Given the description of an element on the screen output the (x, y) to click on. 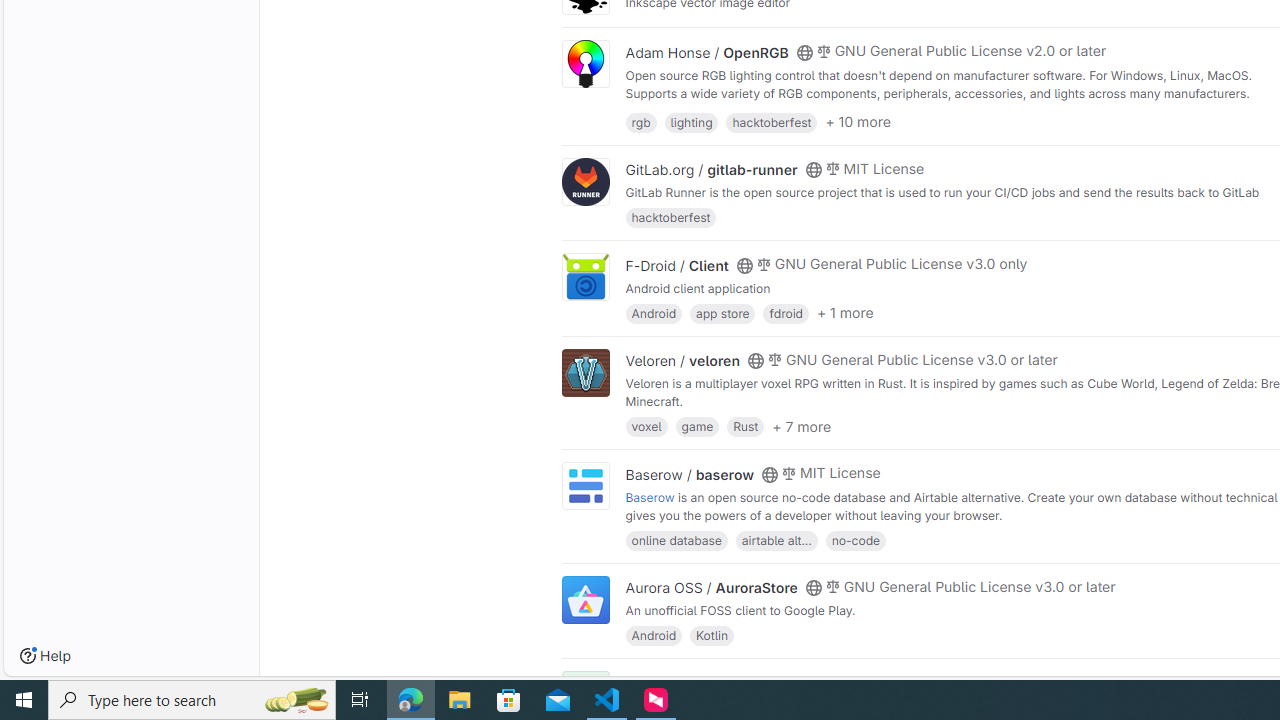
fdroid (785, 312)
airtable alt... (775, 539)
https://openrgb.org (795, 110)
Veloren / veloren (682, 361)
F (585, 695)
rgb (640, 120)
+ 1 more (844, 313)
lighting (691, 120)
Aurora OSS / AuroraStore (710, 587)
F-Droid / Client (676, 265)
+ 10 more (857, 121)
Android (653, 634)
Class: s14 gl-mr-2 (823, 681)
GitLab.org / gitlab-runner (710, 170)
